Given the description of an element on the screen output the (x, y) to click on. 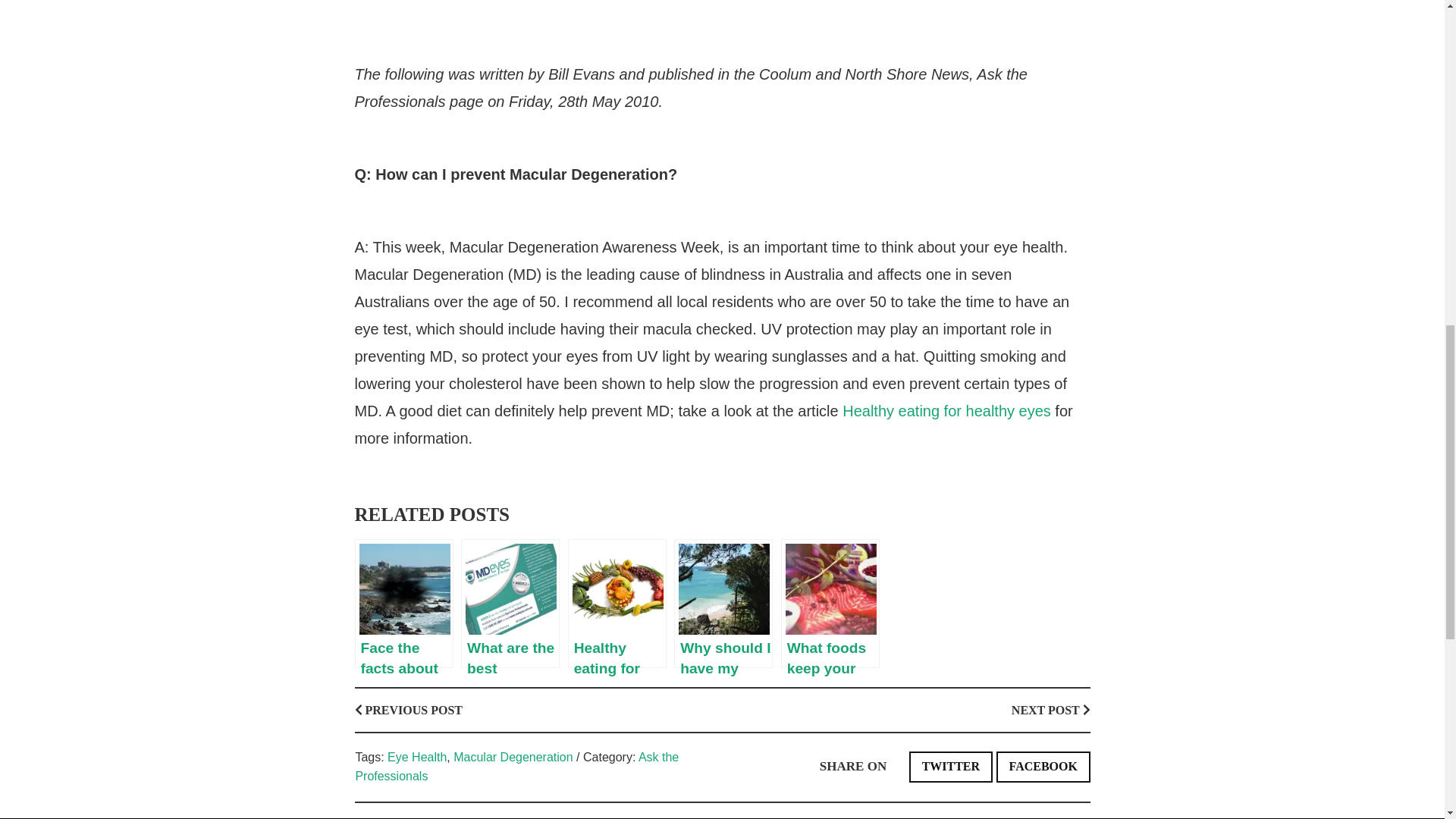
TWITTER (950, 766)
Eye Health (416, 757)
FACEBOOK (1042, 766)
NEXT POST (1050, 709)
Healthy eating for healthy eyes (947, 410)
Ask the Professionals (516, 766)
PREVIOUS POST (409, 709)
Macular Degeneration (512, 757)
